Given the description of an element on the screen output the (x, y) to click on. 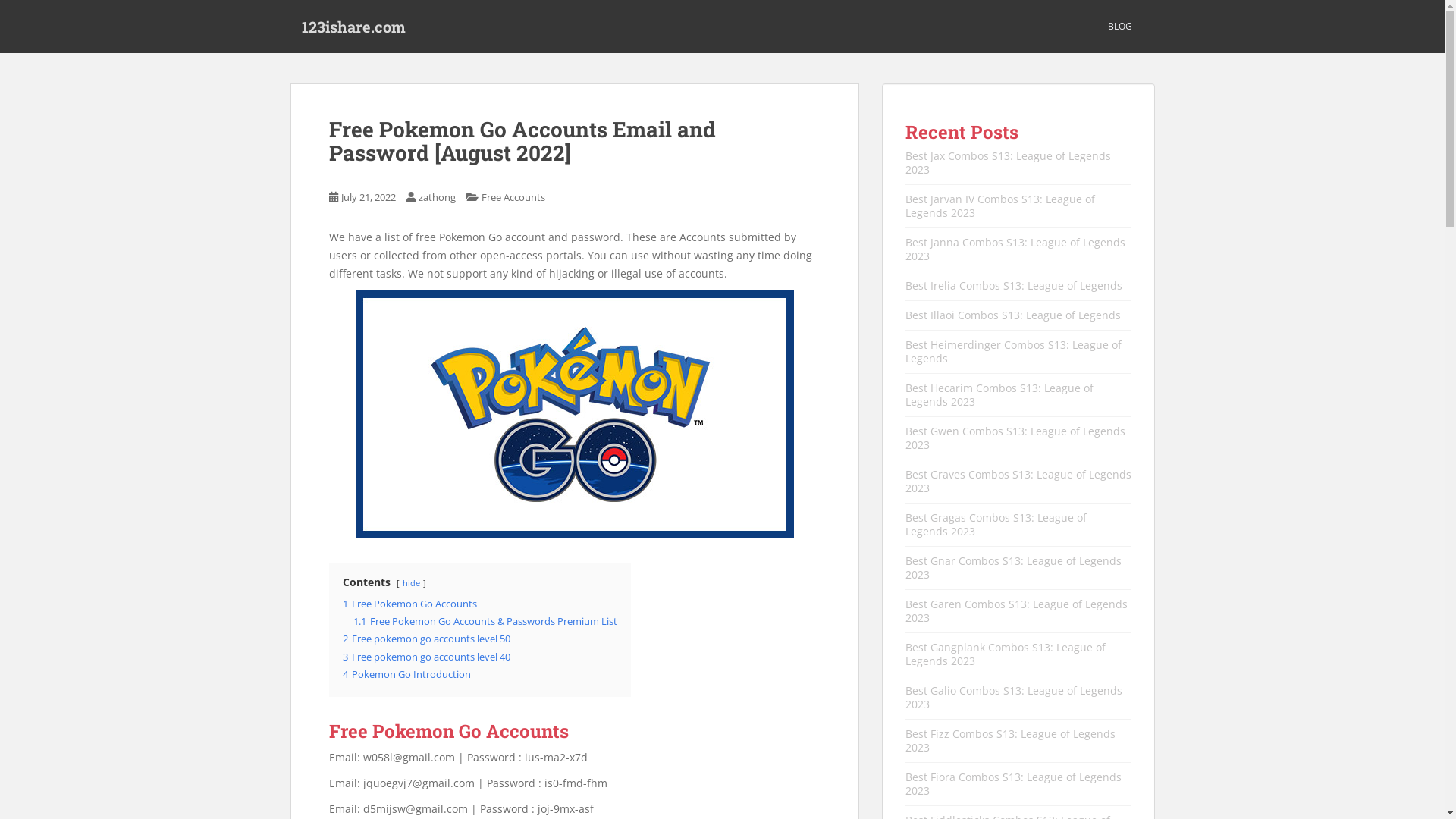
hide Element type: text (410, 582)
2 Free pokemon go accounts level 50 Element type: text (426, 638)
Best Heimerdinger Combos S13: League of Legends Element type: text (1013, 351)
3 Free pokemon go accounts level 40 Element type: text (426, 656)
Best Irelia Combos S13: League of Legends Element type: text (1013, 285)
Best Garen Combos S13: League of Legends 2023 Element type: text (1016, 610)
Best Janna Combos S13: League of Legends 2023 Element type: text (1015, 249)
Best Gragas Combos S13: League of Legends 2023 Element type: text (995, 524)
Best Galio Combos S13: League of Legends 2023 Element type: text (1013, 697)
123ishare.com Element type: text (352, 26)
Best Fiora Combos S13: League of Legends 2023 Element type: text (1013, 783)
Best Illaoi Combos S13: League of Legends Element type: text (1012, 314)
Best Jax Combos S13: League of Legends 2023 Element type: text (1007, 162)
Best Jarvan IV Combos S13: League of Legends 2023 Element type: text (1000, 205)
Best Hecarim Combos S13: League of Legends 2023 Element type: text (999, 394)
Free Accounts Element type: text (512, 196)
Best Fizz Combos S13: League of Legends 2023 Element type: text (1010, 740)
Best Gangplank Combos S13: League of Legends 2023 Element type: text (1005, 654)
1 Free Pokemon Go Accounts Element type: text (409, 603)
Best Gnar Combos S13: League of Legends 2023 Element type: text (1013, 567)
zathong Element type: text (436, 196)
BLOG Element type: text (1119, 26)
July 21, 2022 Element type: text (368, 196)
Best Graves Combos S13: League of Legends 2023 Element type: text (1018, 481)
1.1 Free Pokemon Go Accounts & Passwords Premium List Element type: text (485, 621)
Best Gwen Combos S13: League of Legends 2023 Element type: text (1015, 437)
4 Pokemon Go Introduction Element type: text (406, 674)
